Given the description of an element on the screen output the (x, y) to click on. 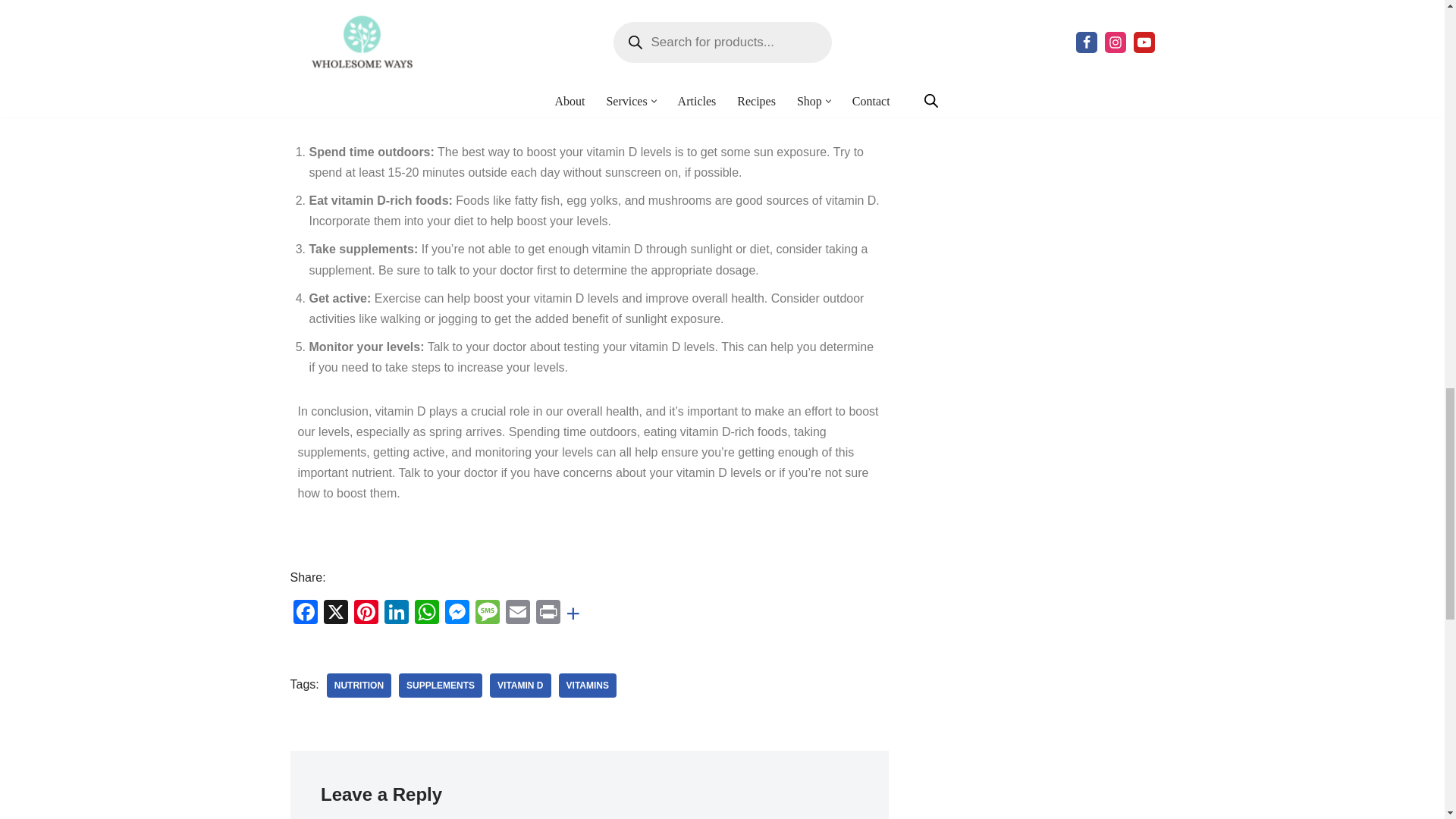
LinkedIn (395, 613)
Messenger (456, 613)
Message (486, 613)
Print (547, 613)
Facebook (304, 613)
X (335, 613)
Pinterest (365, 613)
WhatsApp (425, 613)
Email (517, 613)
